Given the description of an element on the screen output the (x, y) to click on. 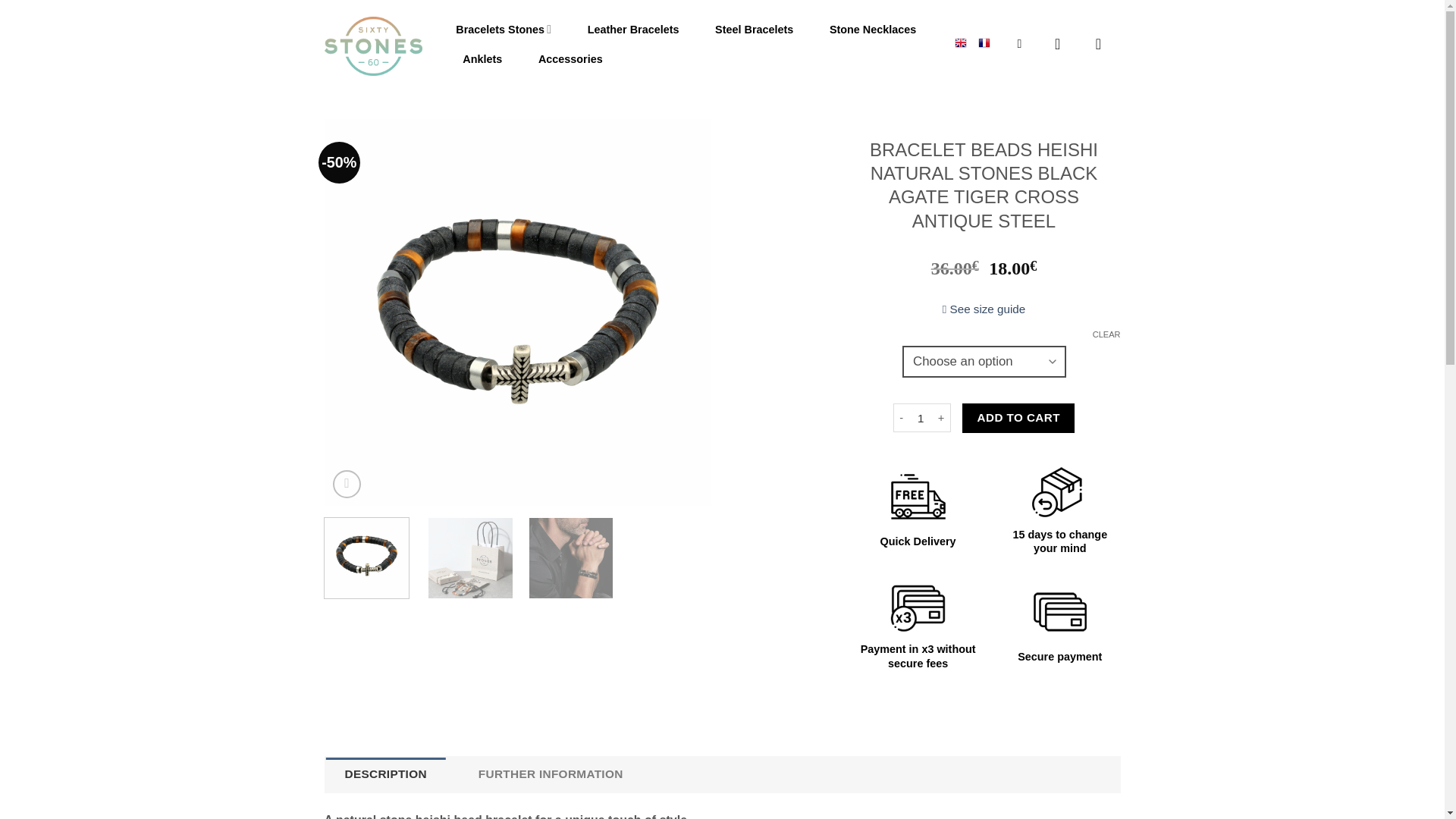
Cart (1103, 43)
Zoom (347, 483)
English (960, 41)
Accessories (569, 58)
Bracelets Stones (502, 29)
Leather Bracelets (633, 29)
Stone Necklaces (872, 29)
CLEAR (1107, 334)
Steel Bracelets (753, 29)
Anklets (482, 58)
Sixtystones official website - Jewelery dedicated to men (373, 46)
French (984, 41)
